Given the description of an element on the screen output the (x, y) to click on. 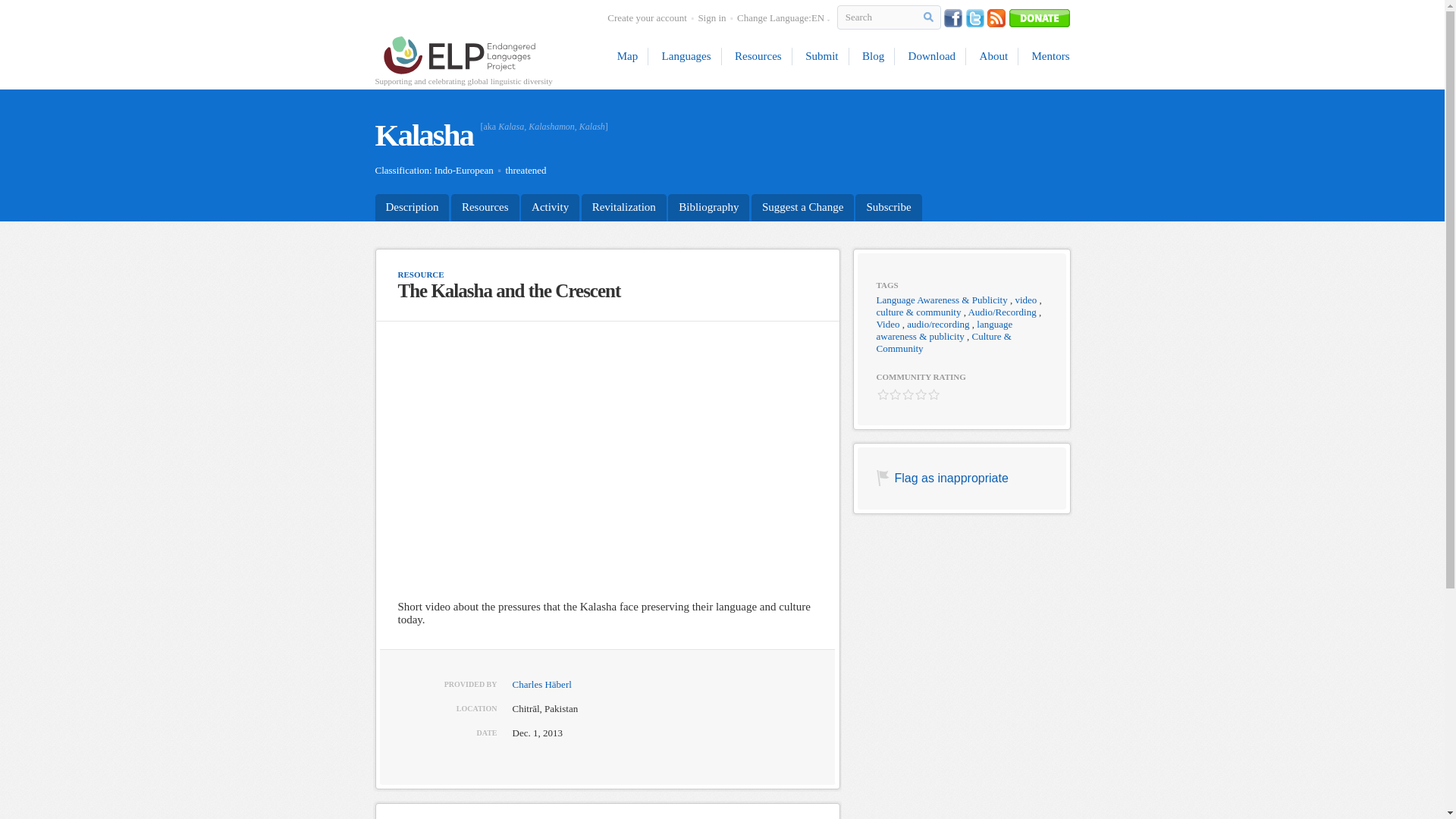
Description (411, 207)
Revitalization (623, 207)
Submit (821, 56)
Follow us on Twitter (975, 18)
Bibliography (708, 207)
Map (633, 56)
video (1025, 299)
Like us on Facebook (952, 18)
Change Language:EN (782, 18)
Resources (758, 56)
Resources (485, 207)
Activity (550, 207)
Languages (687, 56)
Subscribe (888, 207)
RSS Feed (996, 18)
